Given the description of an element on the screen output the (x, y) to click on. 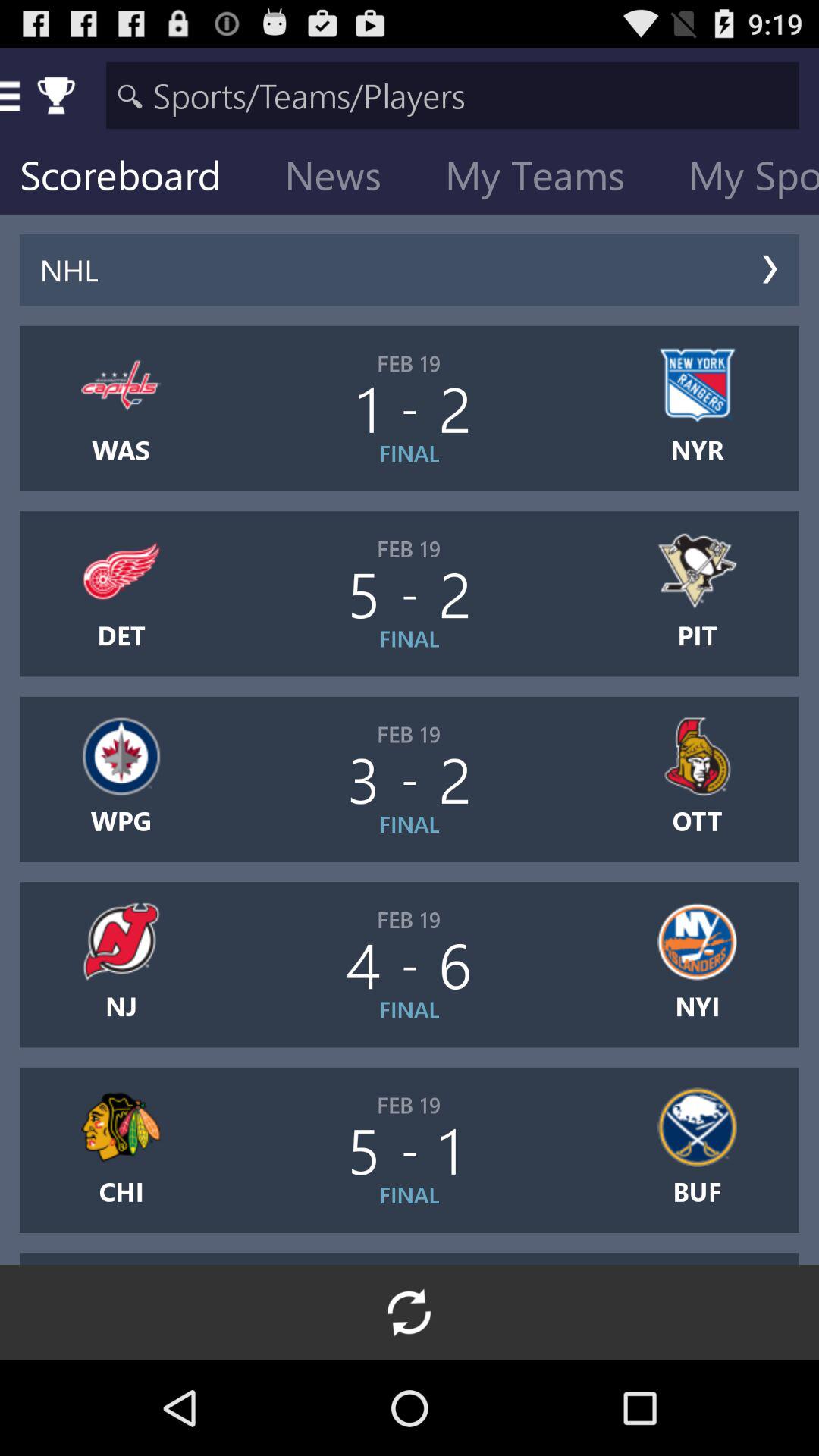
press icon next to news item (132, 178)
